Given the description of an element on the screen output the (x, y) to click on. 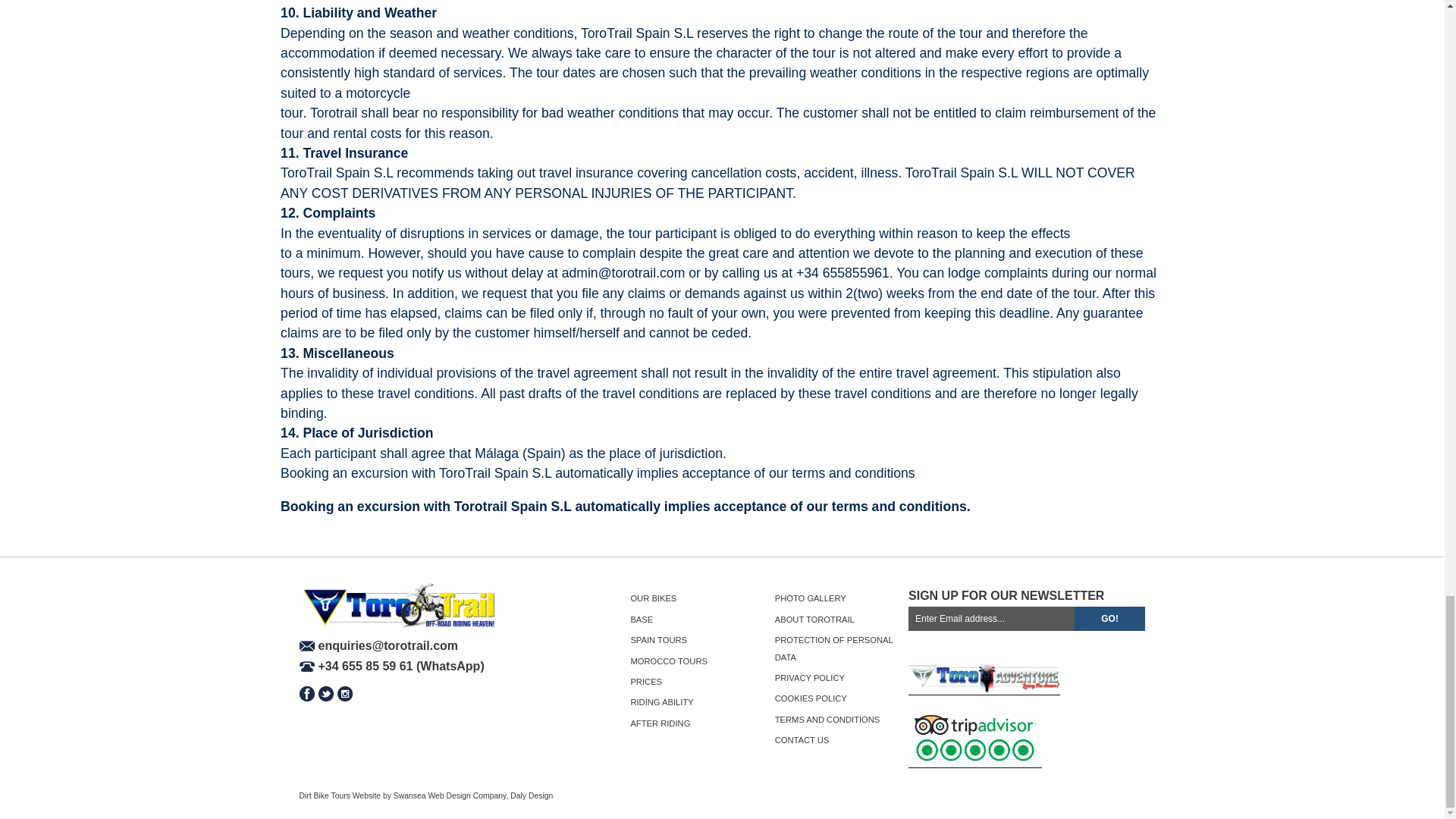
BMW GS1250R holidays with Toro adventure (983, 689)
Follow ToroTrail on Twitter (325, 693)
GO! (1109, 618)
Call ToroTrail (390, 666)
Like ToroTrail on Facebook (306, 693)
Follow ToroTrail on Instagram (344, 693)
Email ToroTrail (378, 645)
